Given the description of an element on the screen output the (x, y) to click on. 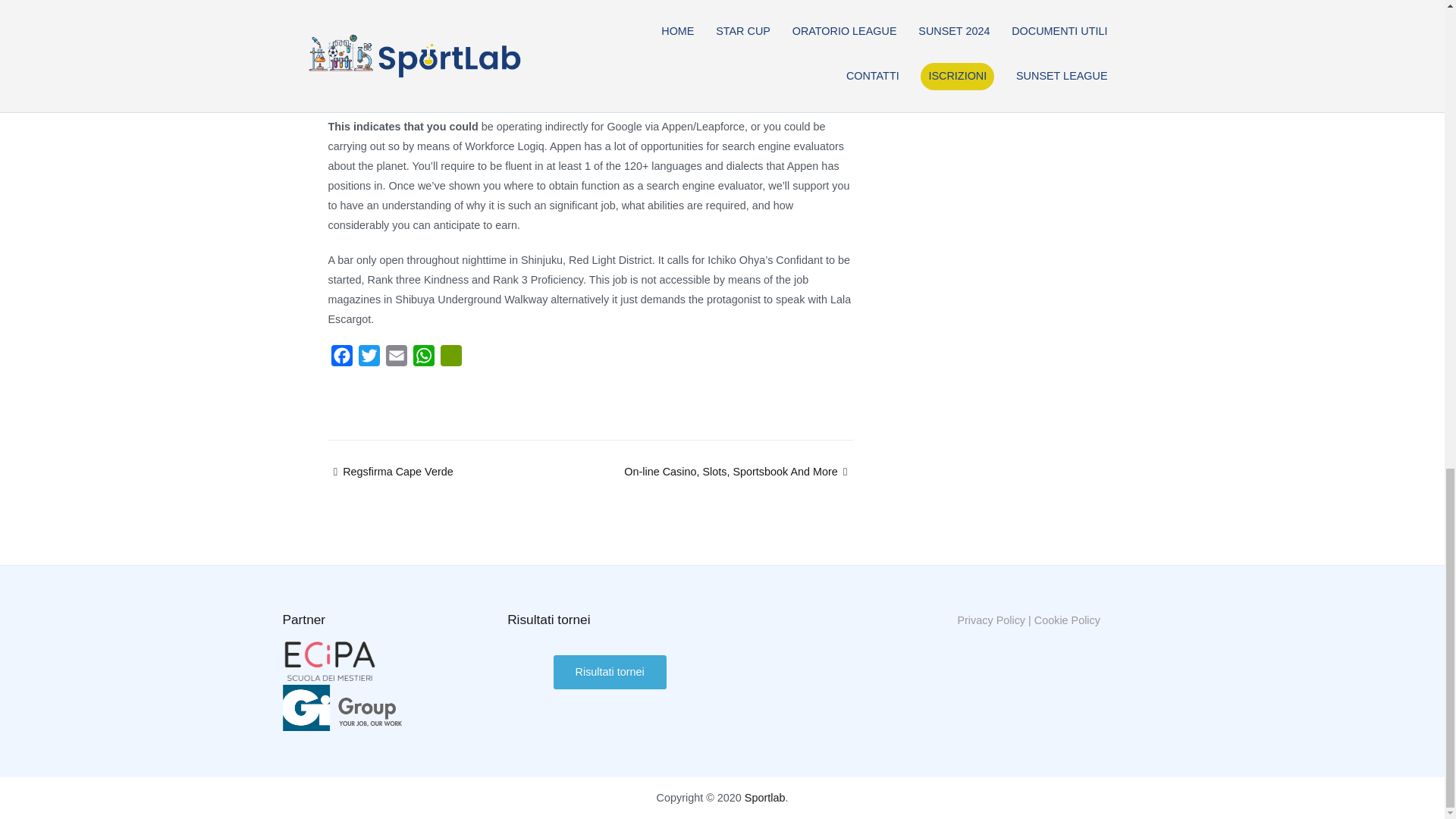
On-line Casino, Slots, Sportsbook And More (737, 471)
Email (395, 358)
Twitter (368, 358)
Facebook (341, 358)
Twitter (368, 358)
Privacy Policy (990, 620)
Facebook (341, 358)
PrintFriendly (450, 358)
Sportlab (765, 797)
Email (395, 358)
Risultati tornei (609, 672)
Regsfirma Cape Verde (389, 471)
WhatsApp (422, 358)
WhatsApp (422, 358)
PrintFriendly (450, 358)
